Given the description of an element on the screen output the (x, y) to click on. 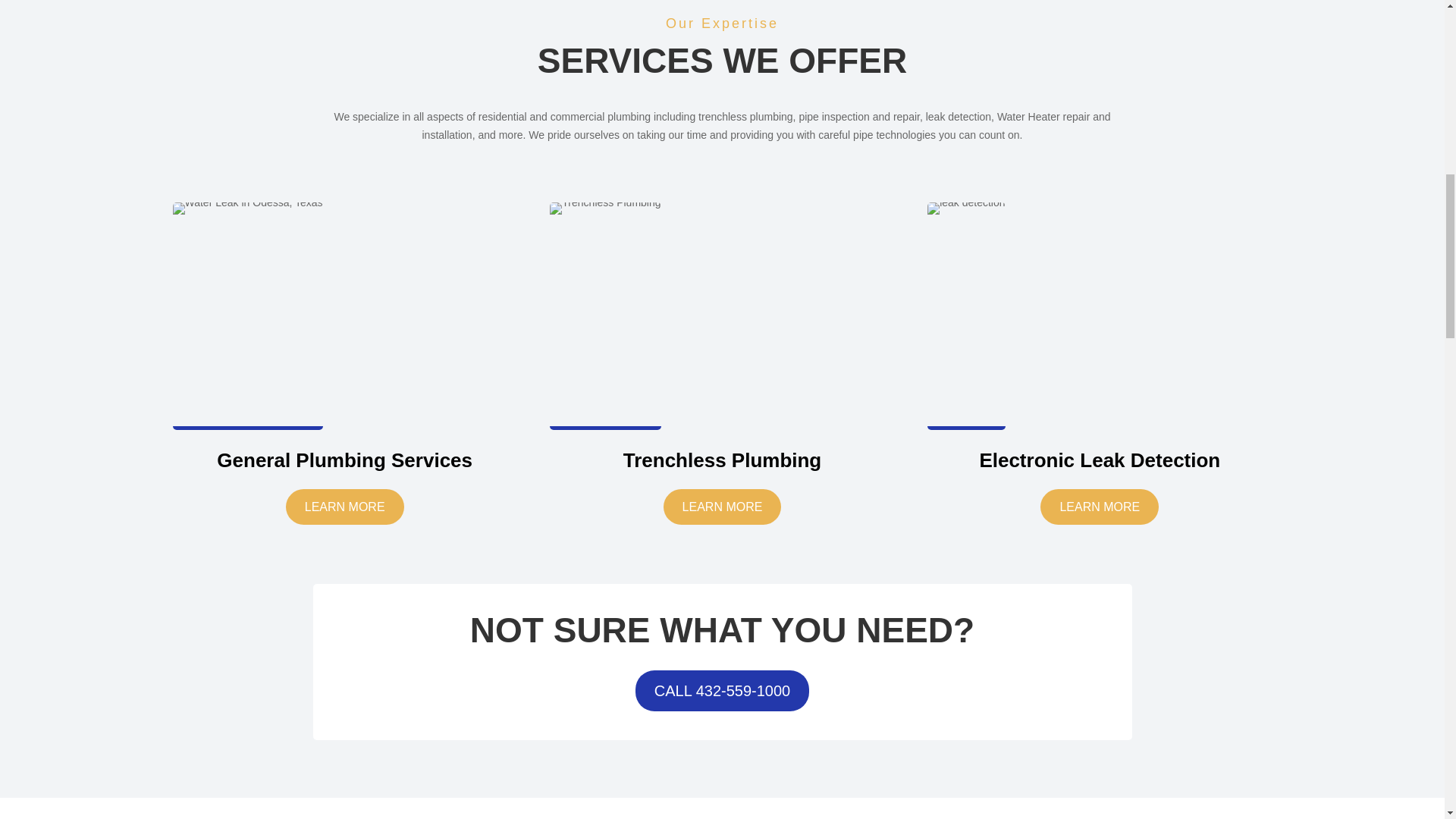
LEARN MORE (1099, 506)
LEARN MORE (344, 506)
I Fix Pipe-0646 (248, 208)
CALL 432-559-1000 (721, 690)
I Fix Pipe-0530 (965, 208)
LEARN MORE (722, 506)
I Fix Pipe-0598 (605, 208)
